Given the description of an element on the screen output the (x, y) to click on. 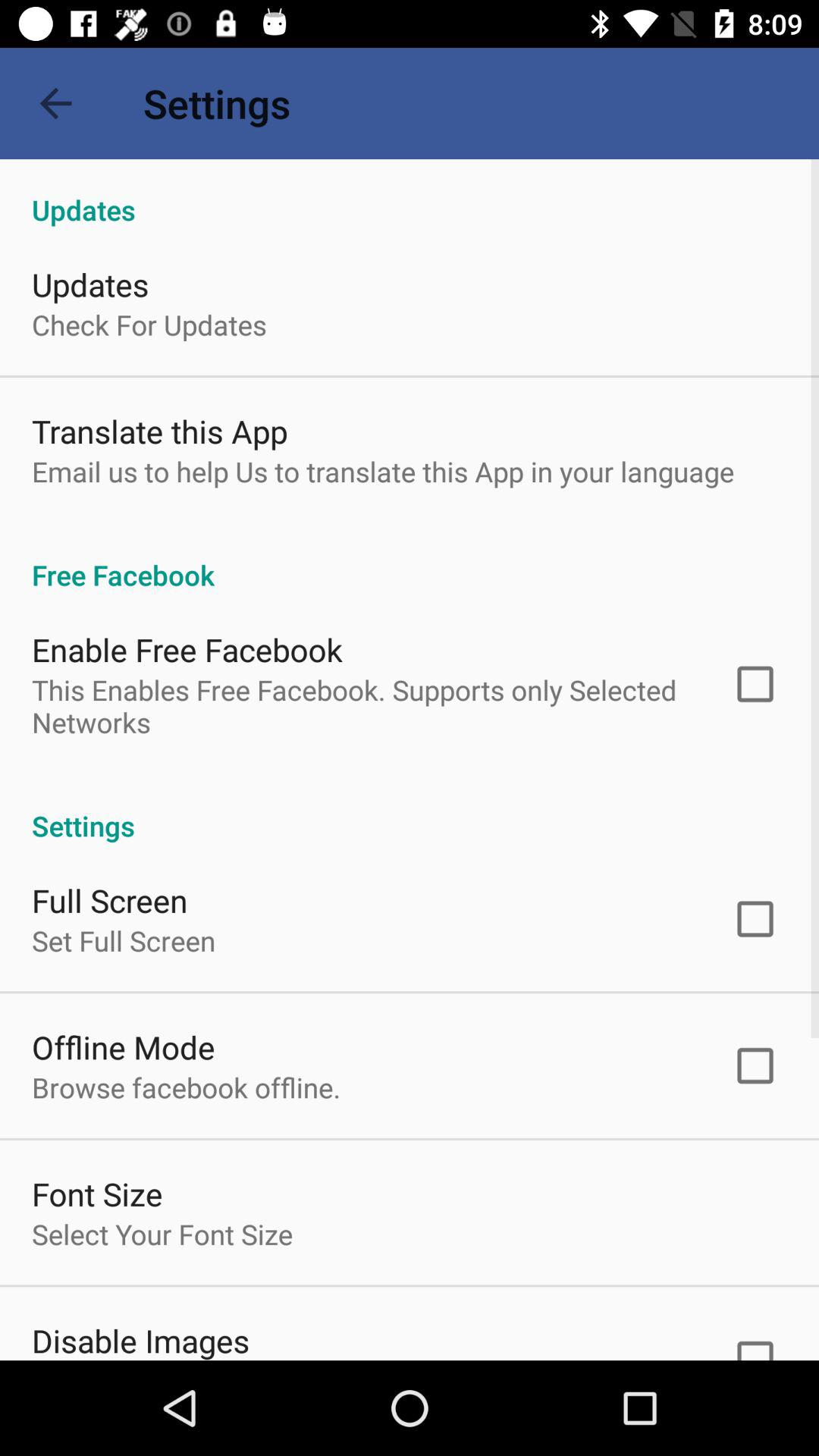
open icon above font size icon (185, 1087)
